Given the description of an element on the screen output the (x, y) to click on. 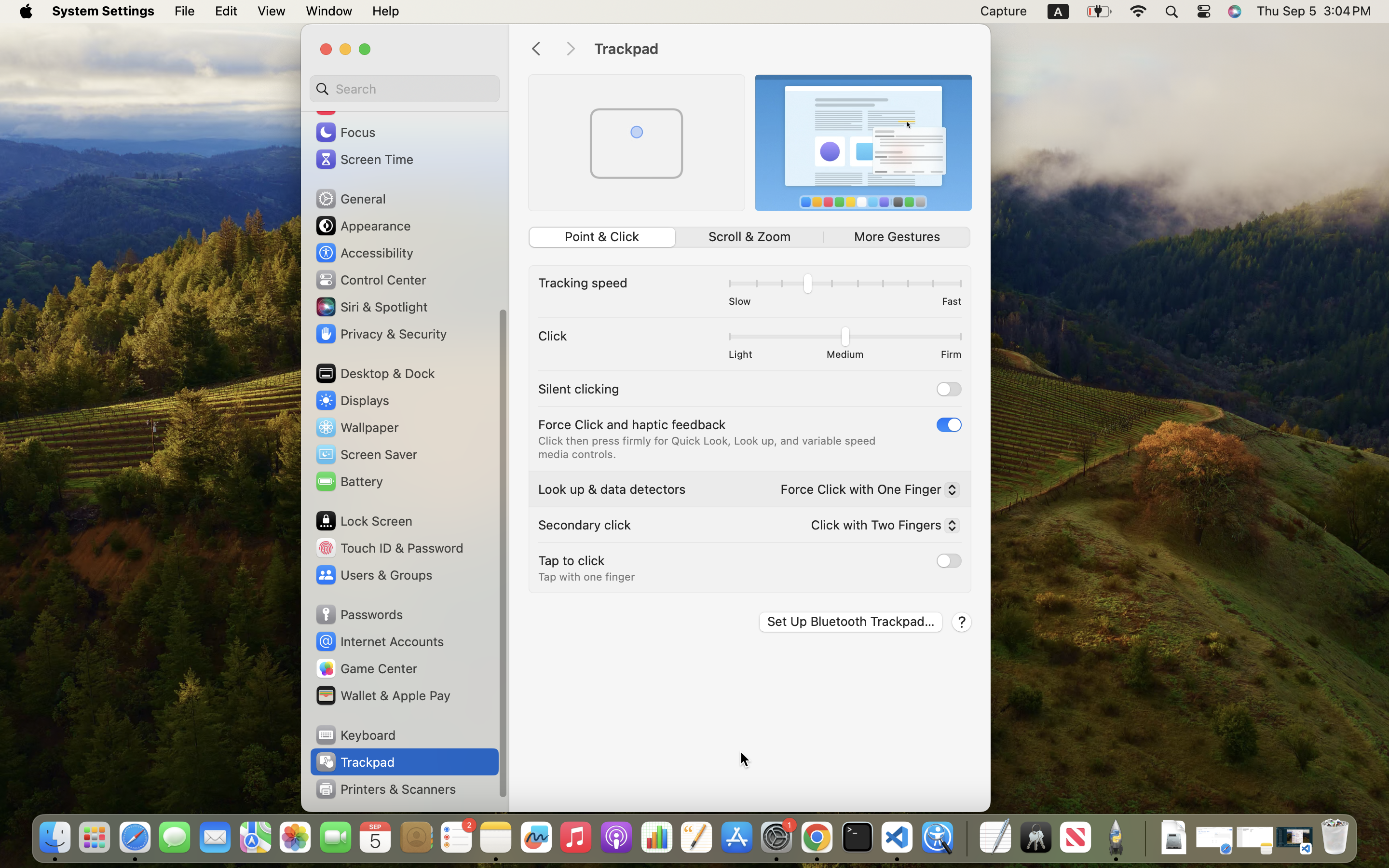
Click then press firmly for Quick Look, Look up, and variable speed media controls. Element type: AXStaticText (708, 447)
Screen Saver Element type: AXStaticText (365, 453)
Accessibility Element type: AXStaticText (363, 252)
Internet Accounts Element type: AXStaticText (378, 640)
